Given the description of an element on the screen output the (x, y) to click on. 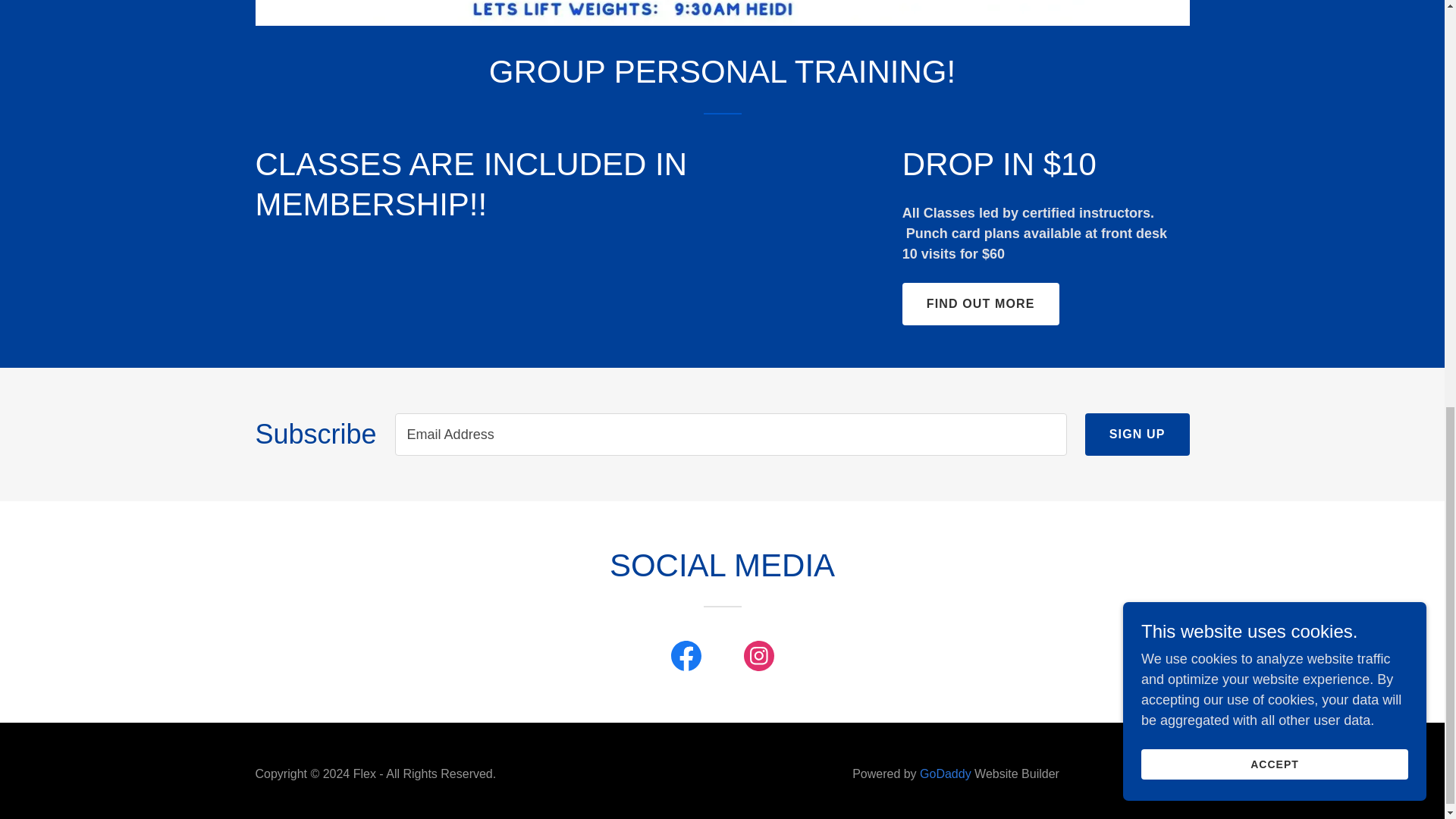
GoDaddy (945, 773)
SIGN UP (1136, 434)
FIND OUT MORE (980, 303)
